Given the description of an element on the screen output the (x, y) to click on. 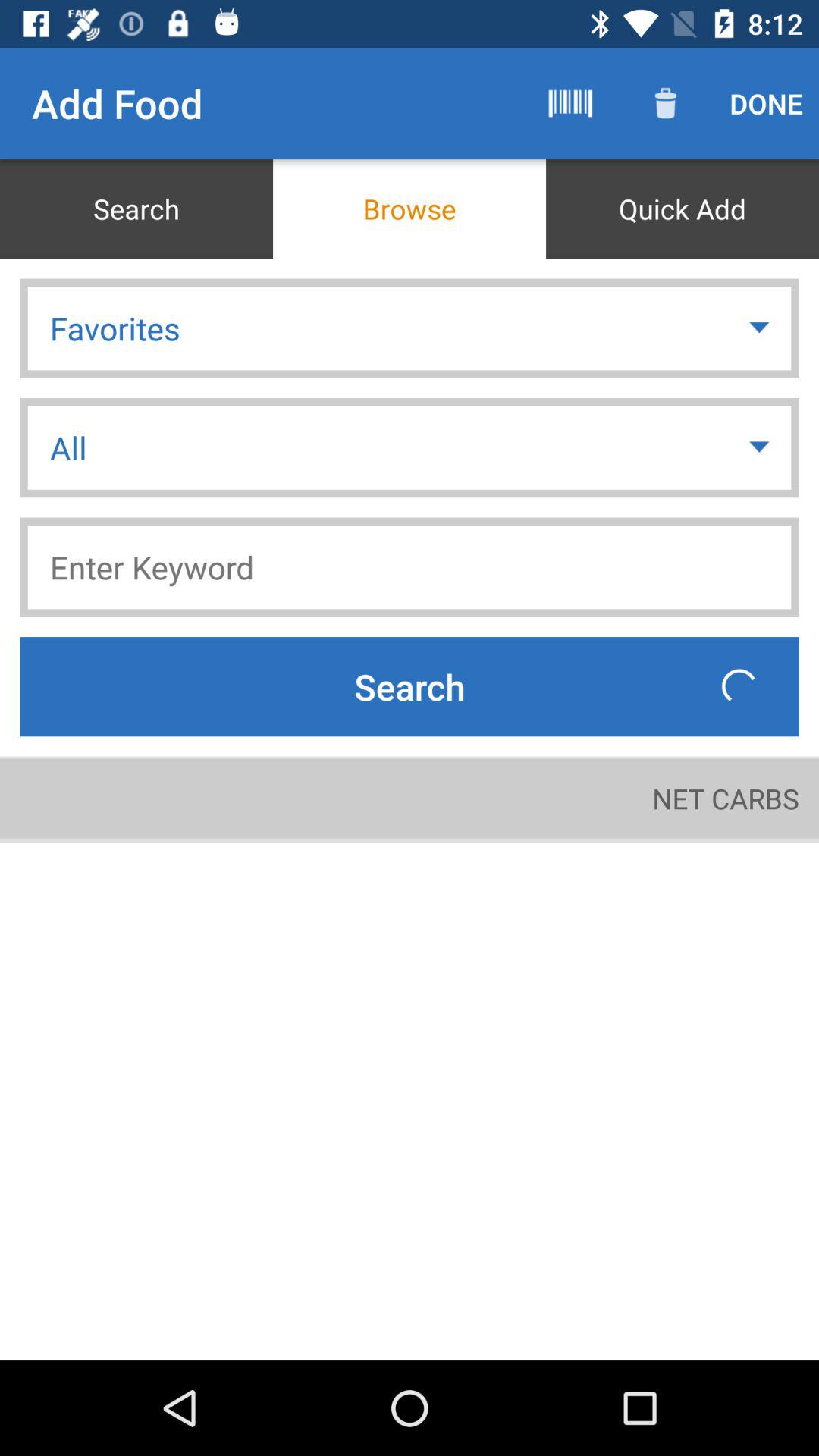
click the icon to the right of search item (570, 103)
